Given the description of an element on the screen output the (x, y) to click on. 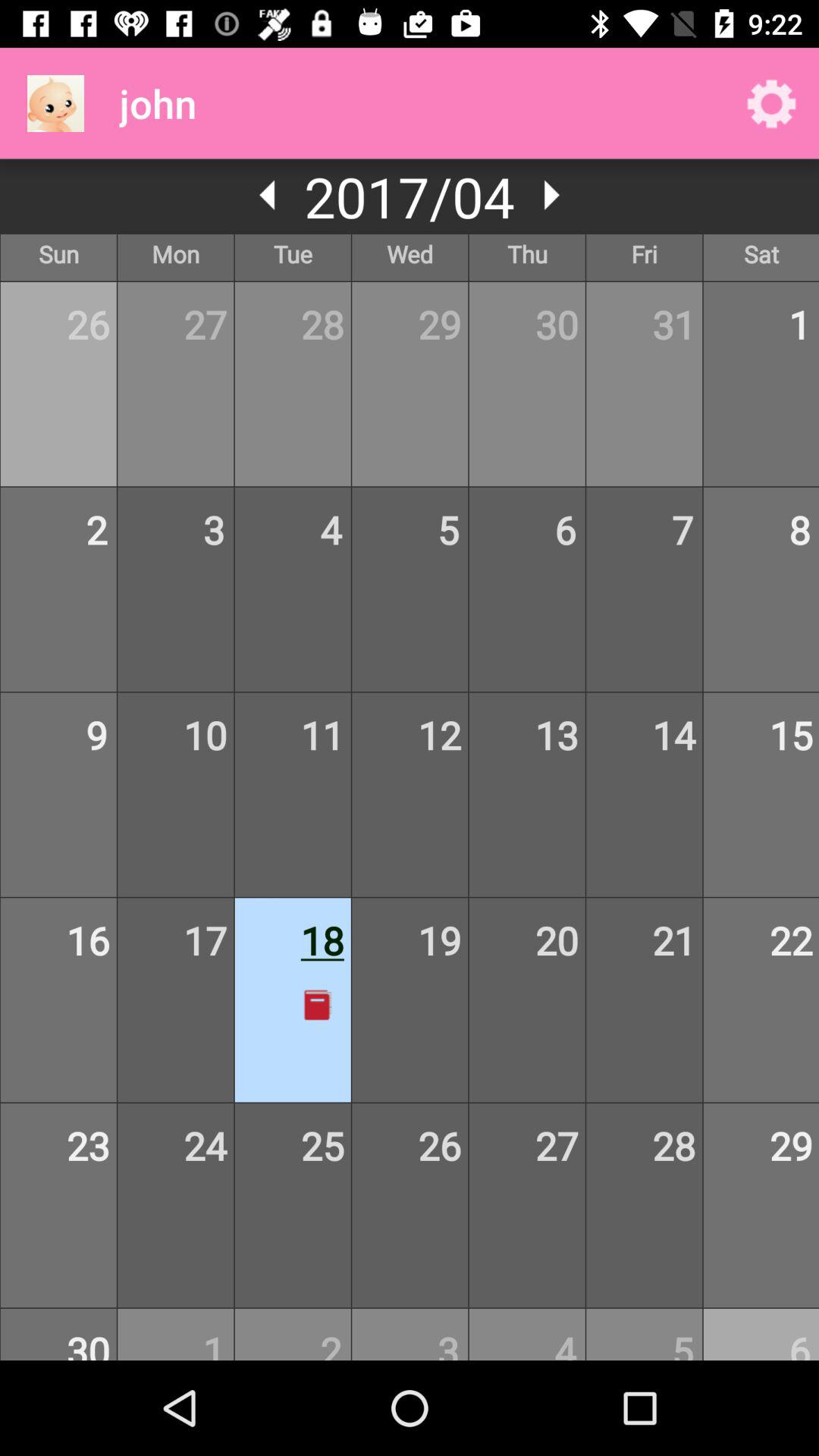
previous month (268, 194)
